Given the description of an element on the screen output the (x, y) to click on. 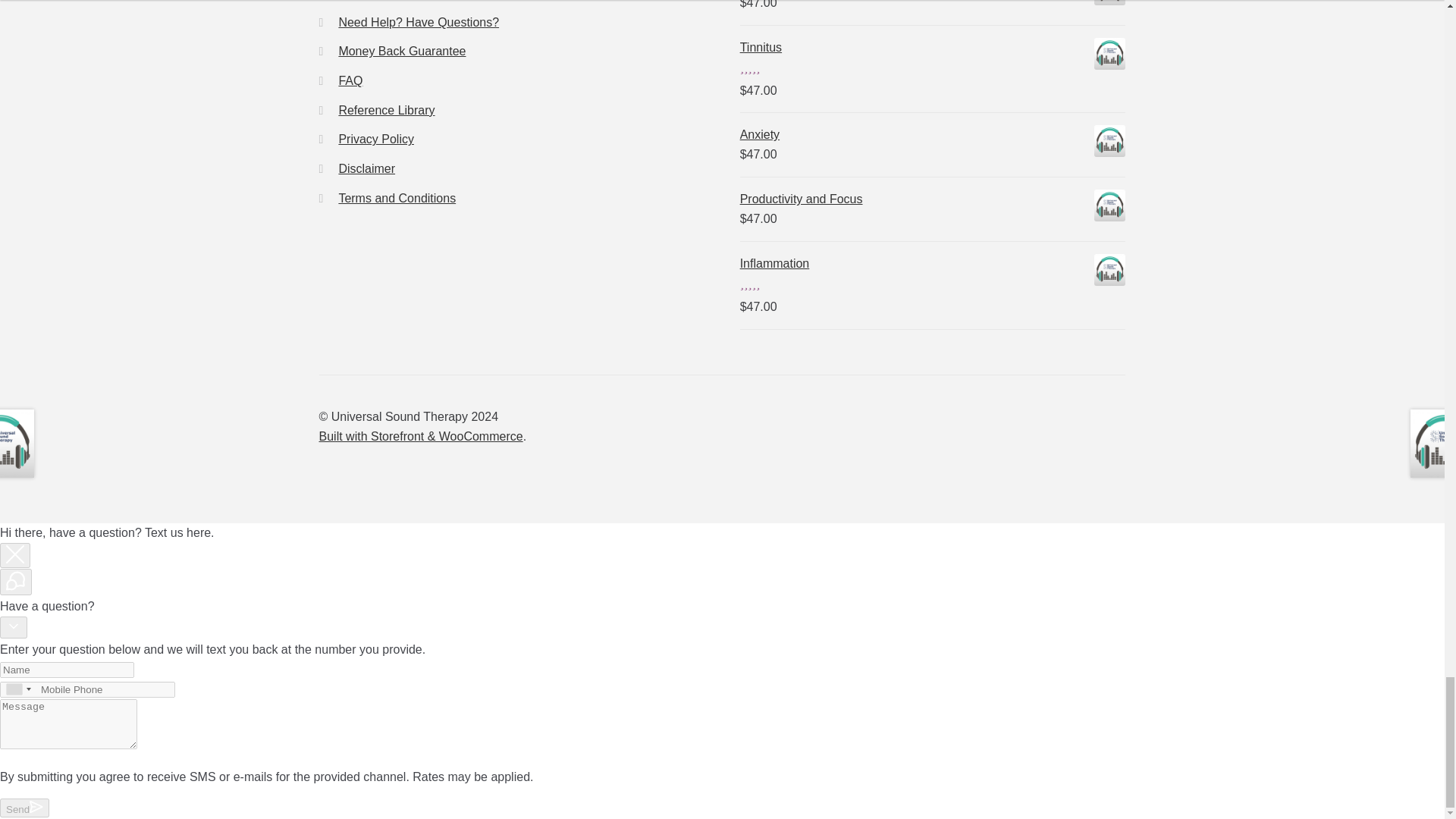
WooCommerce - The Best eCommerce Platform for WordPress (420, 436)
